Given the description of an element on the screen output the (x, y) to click on. 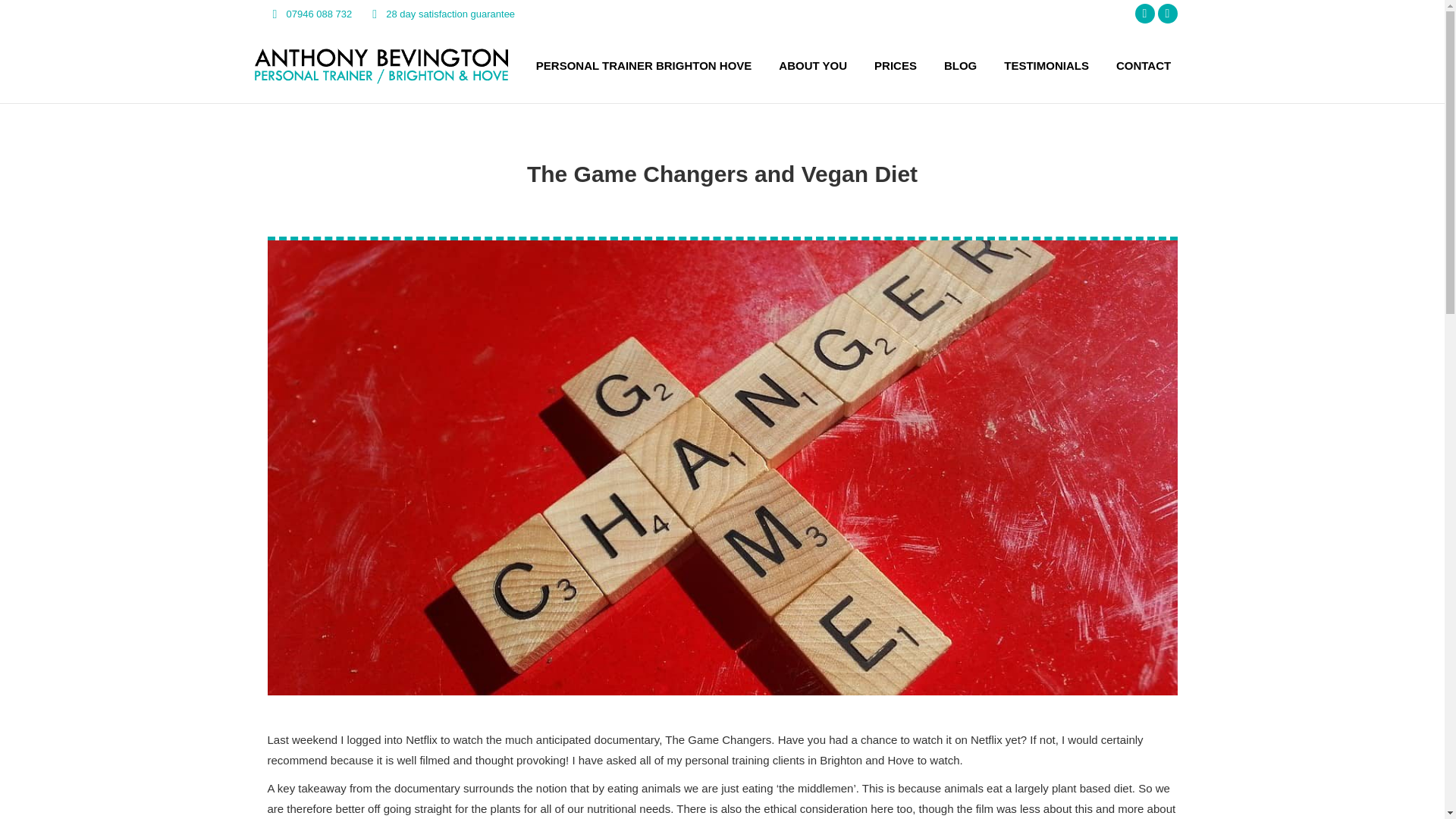
CONTACT (1143, 64)
ABOUT YOU (813, 64)
X page opens in new window (1144, 13)
YouTube page opens in new window (1167, 13)
YouTube page opens in new window (1167, 13)
PRICES (895, 64)
PERSONAL TRAINER BRIGHTON HOVE (643, 64)
TESTIMONIALS (1046, 64)
X page opens in new window (1144, 13)
